Given the description of an element on the screen output the (x, y) to click on. 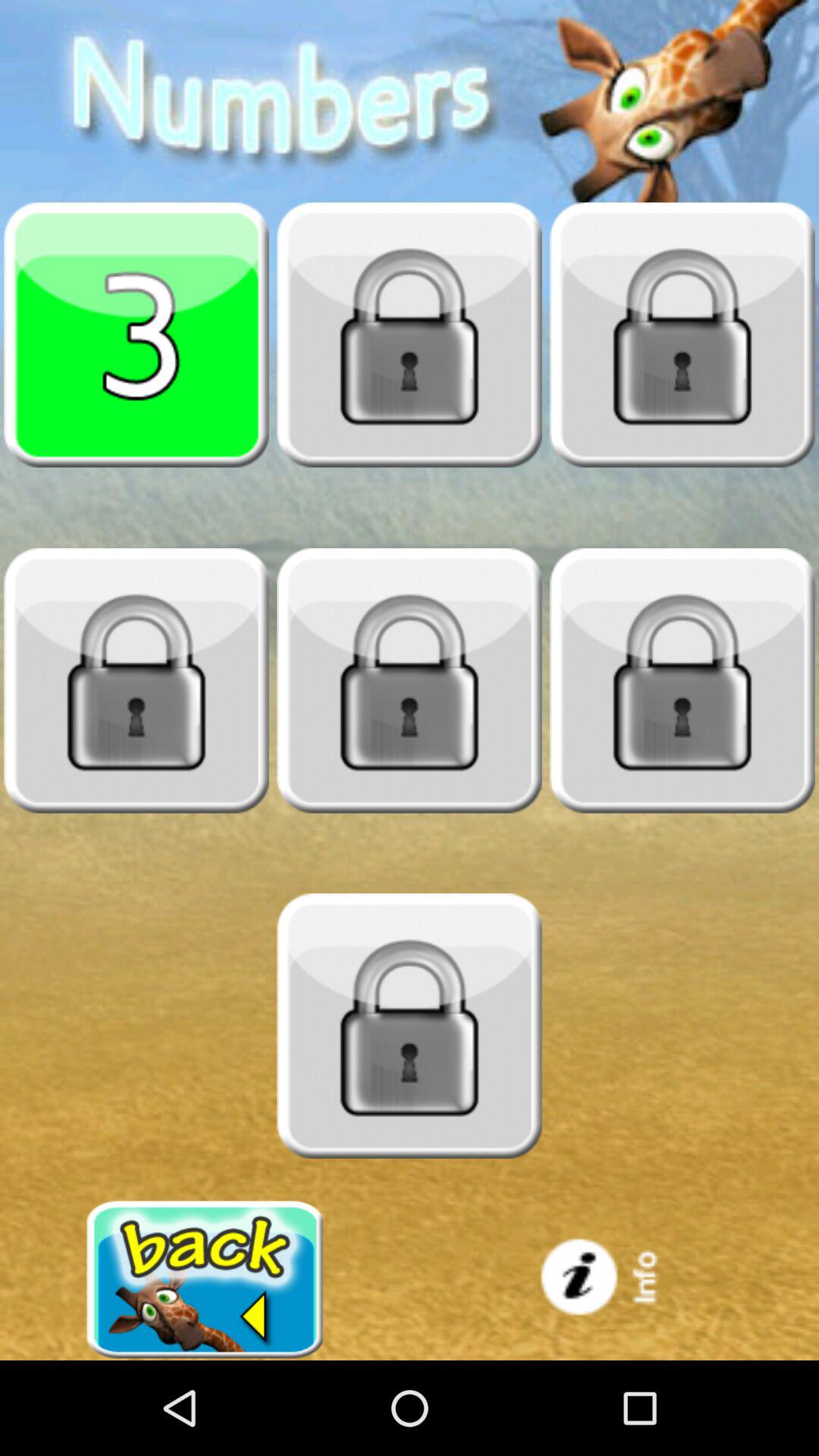
go back (204, 1279)
